Given the description of an element on the screen output the (x, y) to click on. 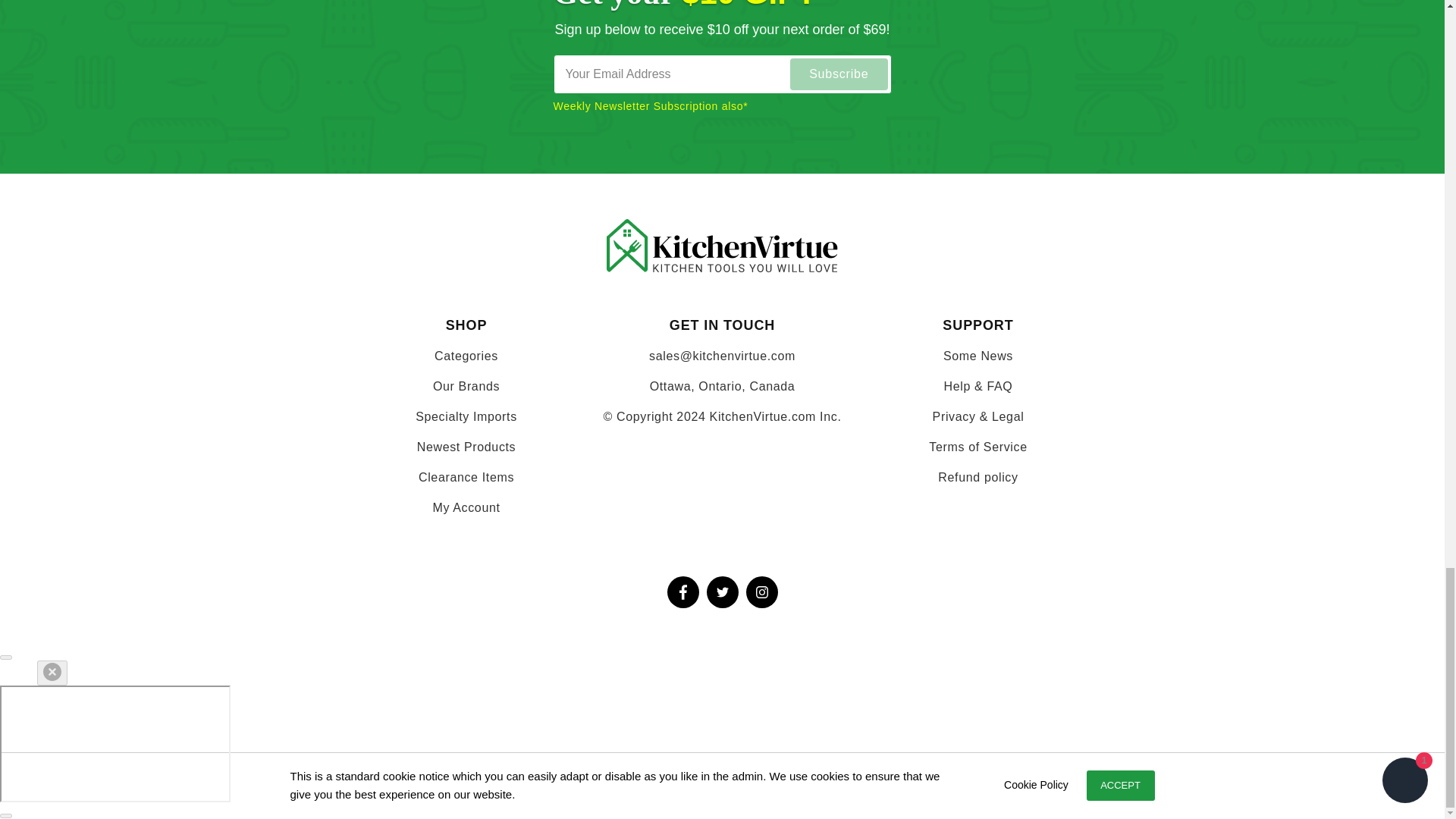
Subscribe (838, 74)
